Given the description of an element on the screen output the (x, y) to click on. 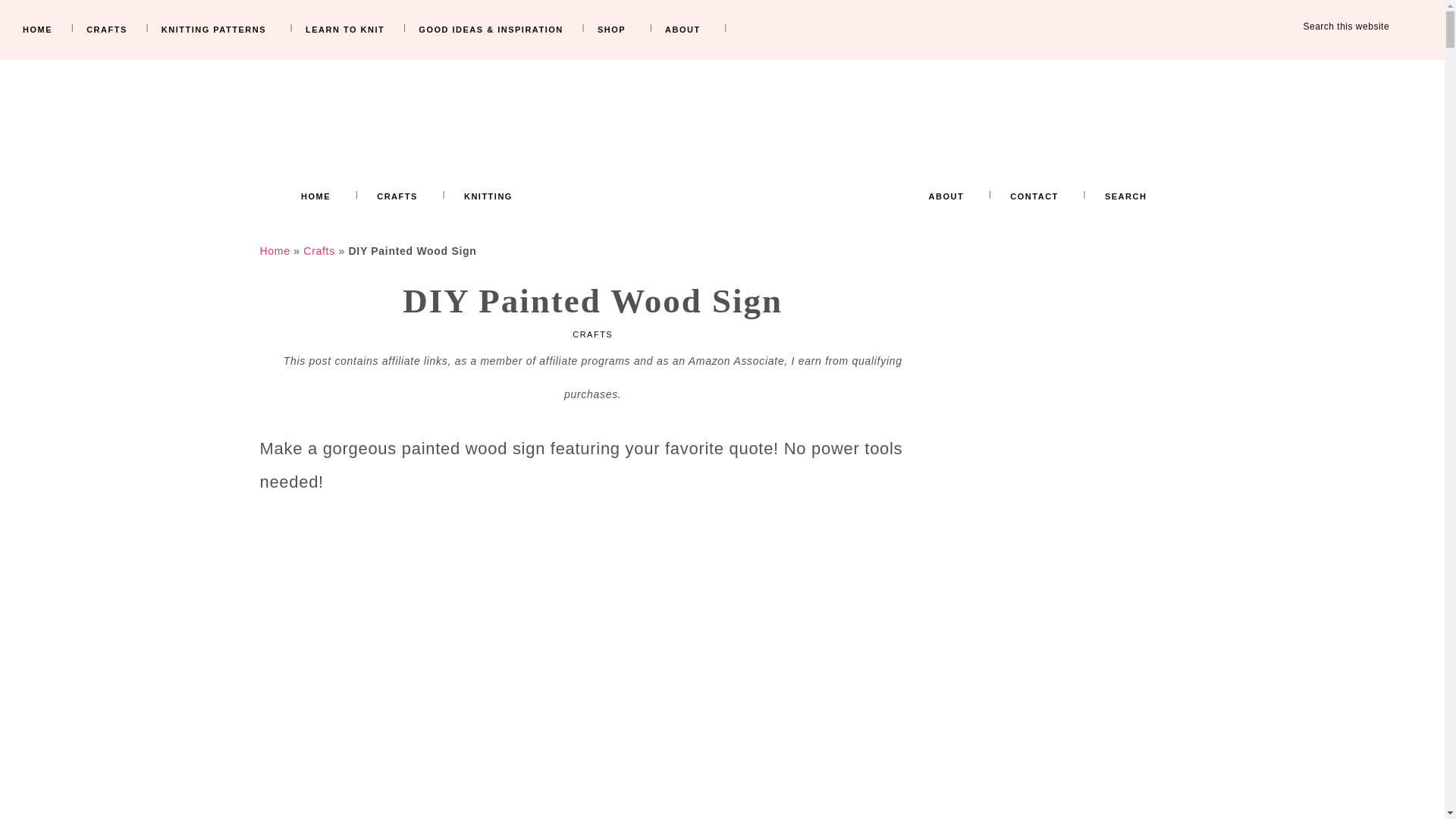
CONTACT (1033, 199)
SEARCH (1125, 199)
Home (274, 250)
HOME (314, 199)
CRAFTS (592, 334)
ABOUT (946, 199)
